Given the description of an element on the screen output the (x, y) to click on. 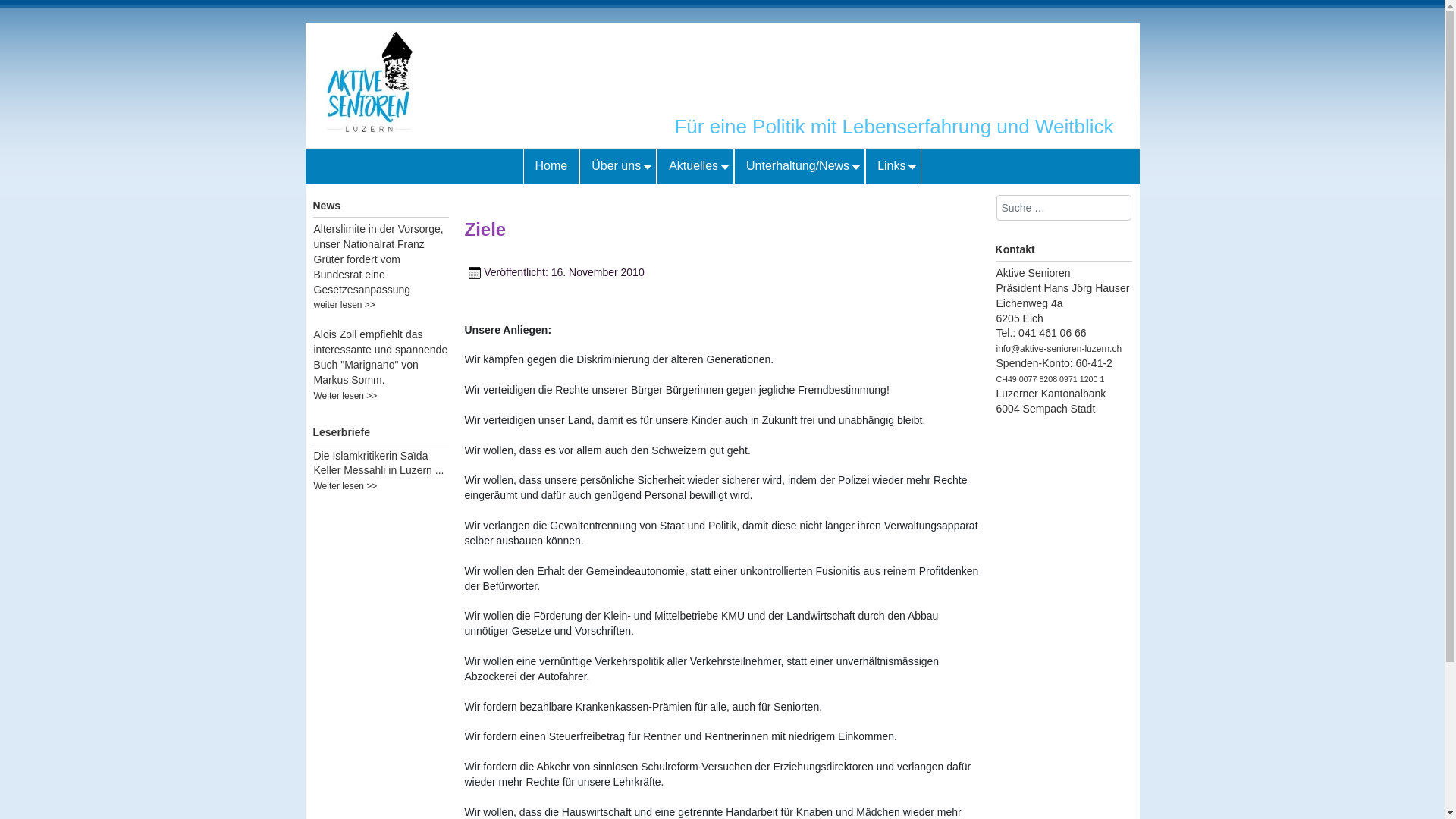
weiter lesen >> Element type: text (344, 304)
Home Element type: text (551, 165)
info@aktive-senioren-luzern.ch Element type: text (1059, 348)
Ziele Element type: text (484, 229)
Weiter lesen >> Element type: text (345, 395)
Weiter lesen >> Element type: text (345, 485)
Aktuelles Element type: text (695, 165)
Unterhaltung/News Element type: text (799, 165)
Links Element type: text (893, 165)
